Given the description of an element on the screen output the (x, y) to click on. 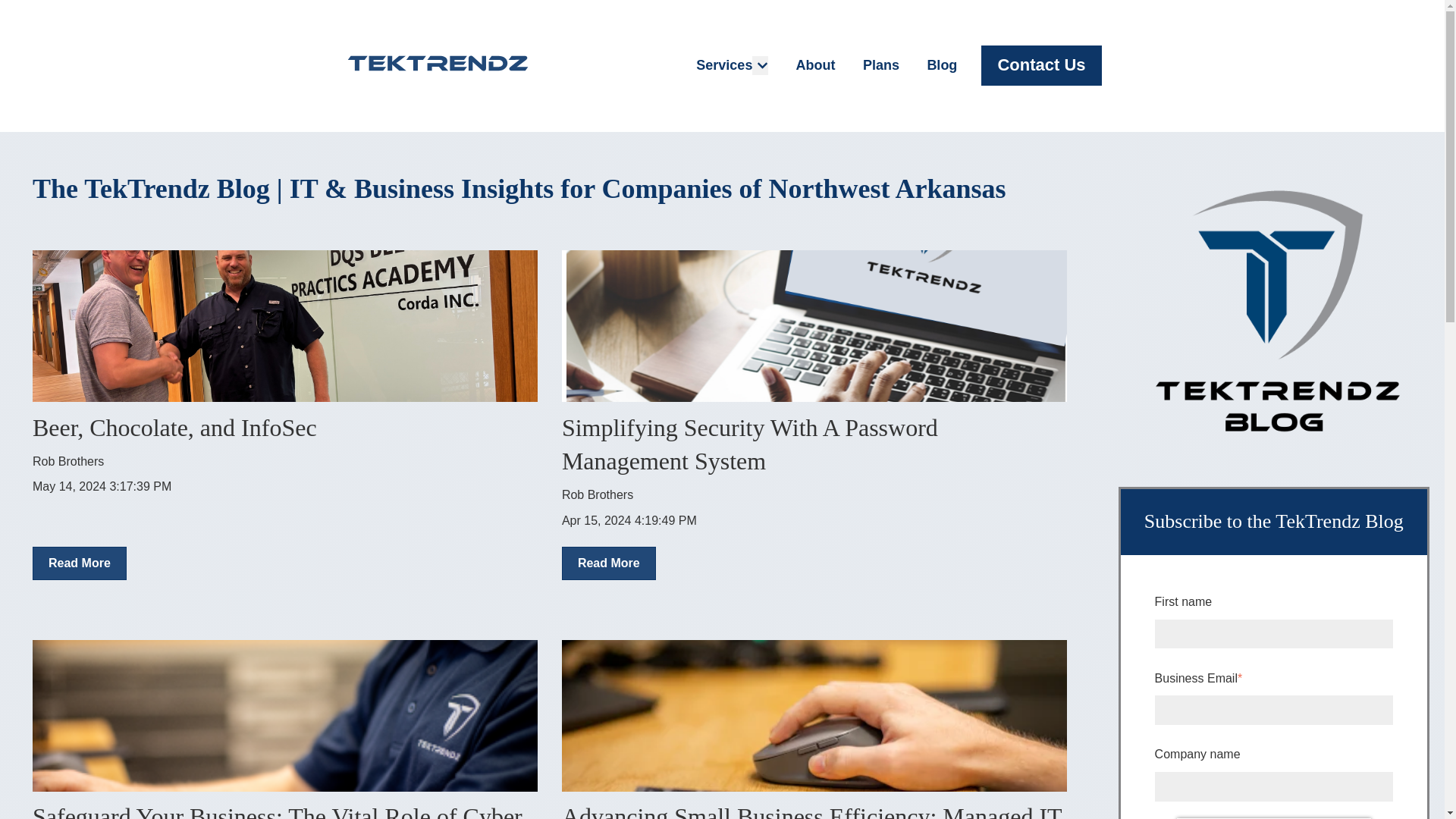
Services (723, 65)
Blog (941, 65)
Plans (881, 65)
Rob Brothers (597, 494)
Beer, Chocolate, and InfoSec (174, 427)
Rob Brothers (67, 461)
Read More (79, 563)
Read More (609, 563)
Contact Us (1040, 65)
